Given the description of an element on the screen output the (x, y) to click on. 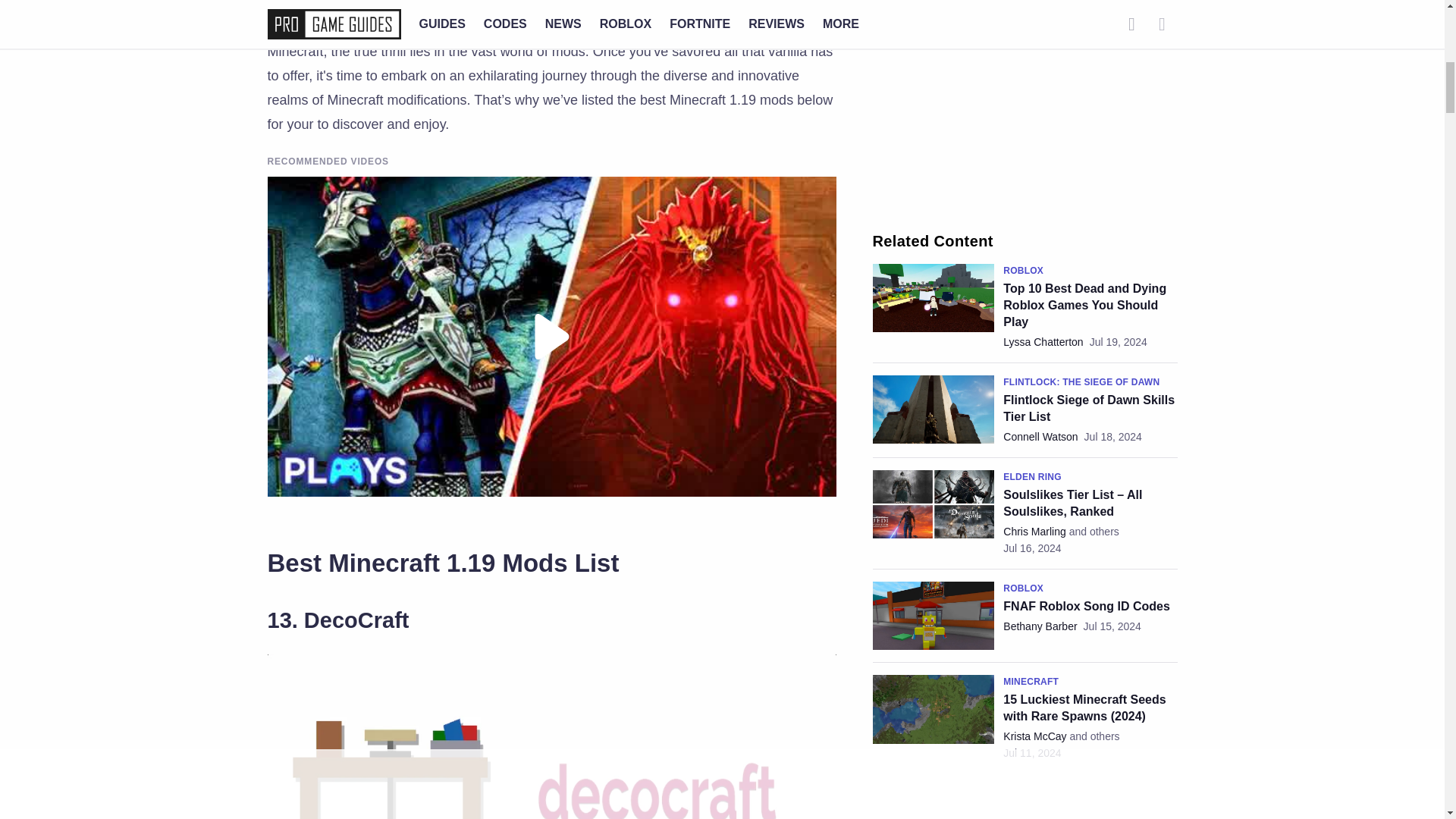
3rd party ad content (1024, 104)
